Given the description of an element on the screen output the (x, y) to click on. 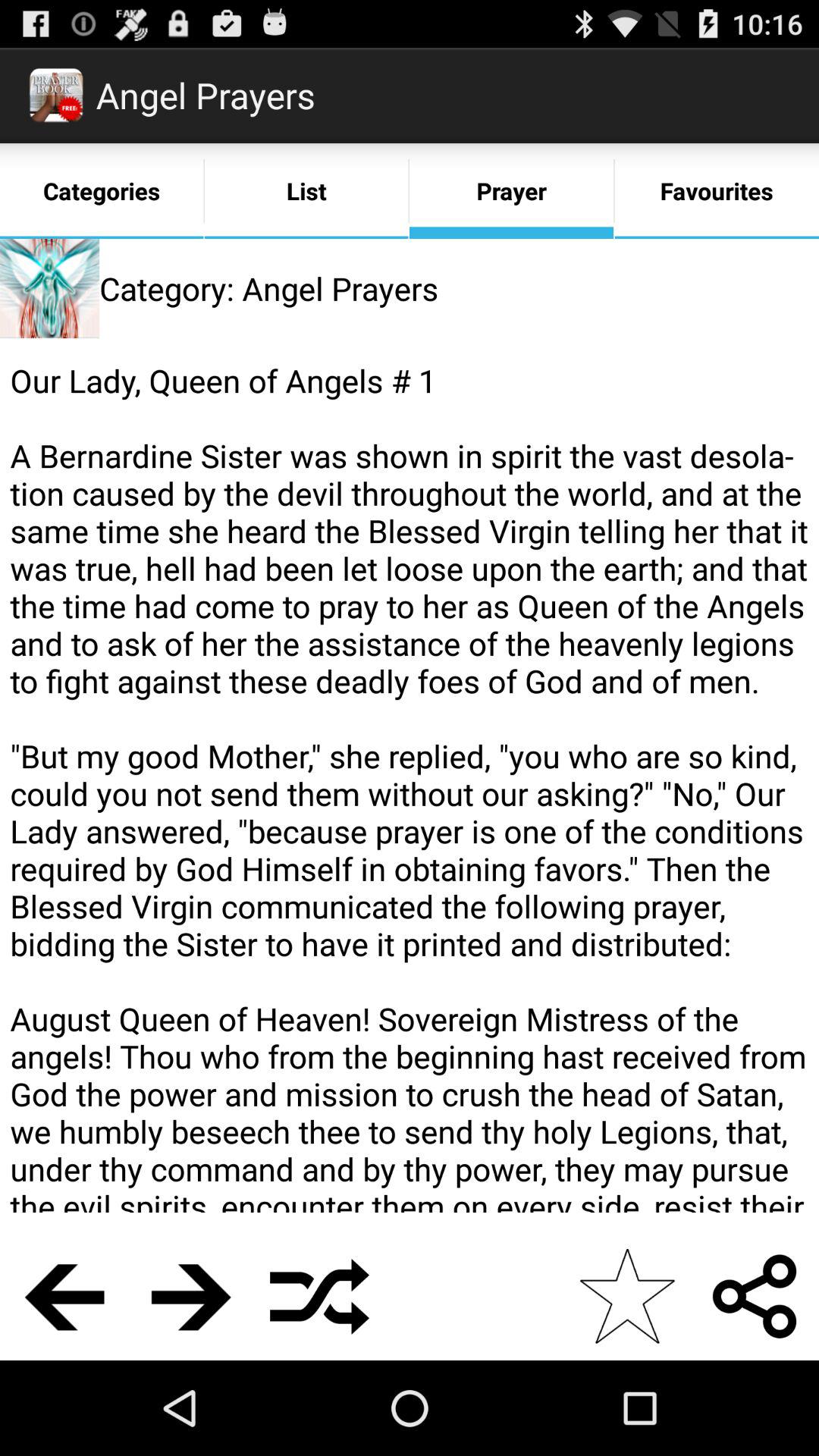
share the page (754, 1296)
